Given the description of an element on the screen output the (x, y) to click on. 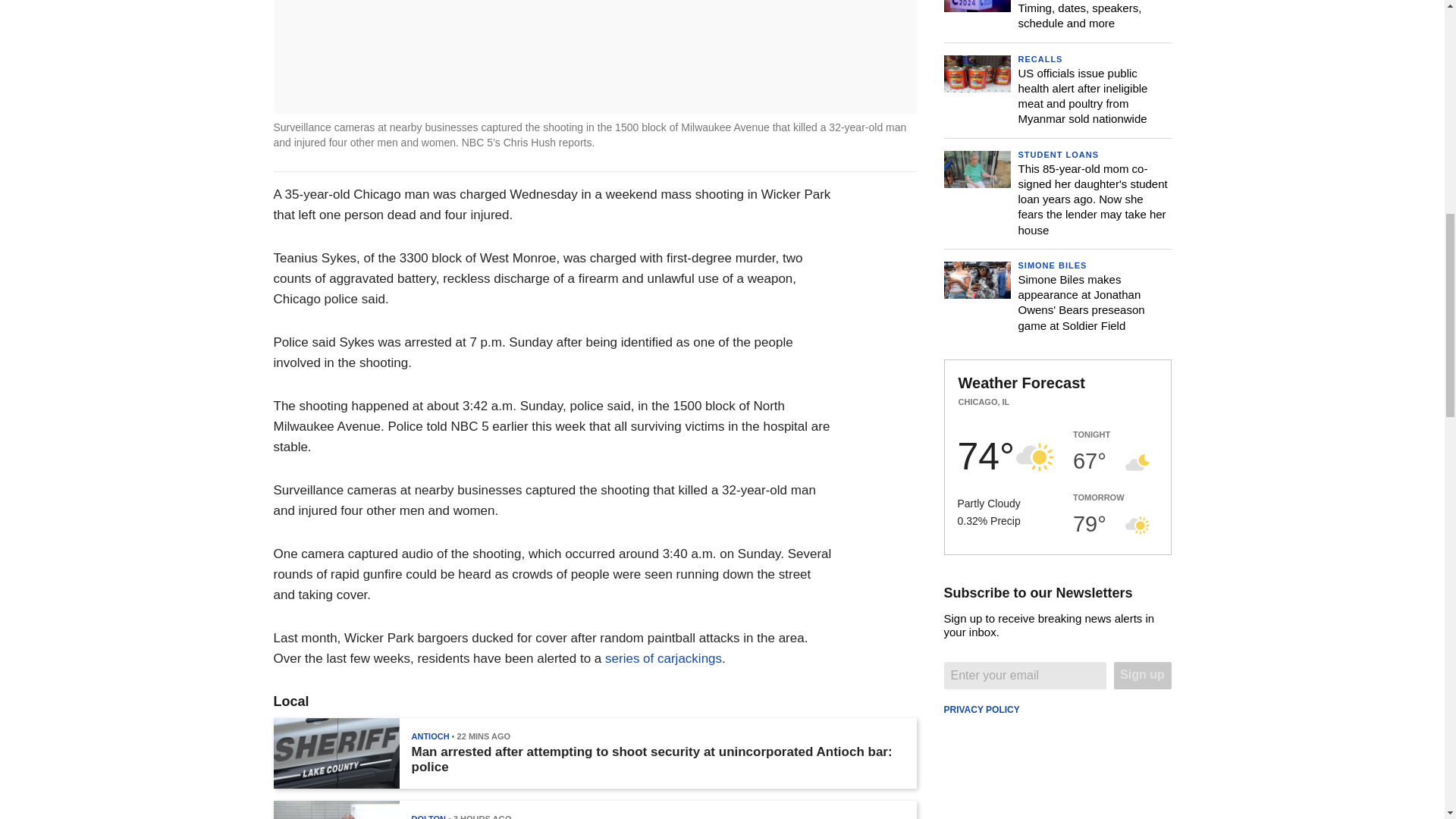
series of carjackings (663, 658)
DOLTON (427, 816)
ANTIOCH (429, 736)
